Given the description of an element on the screen output the (x, y) to click on. 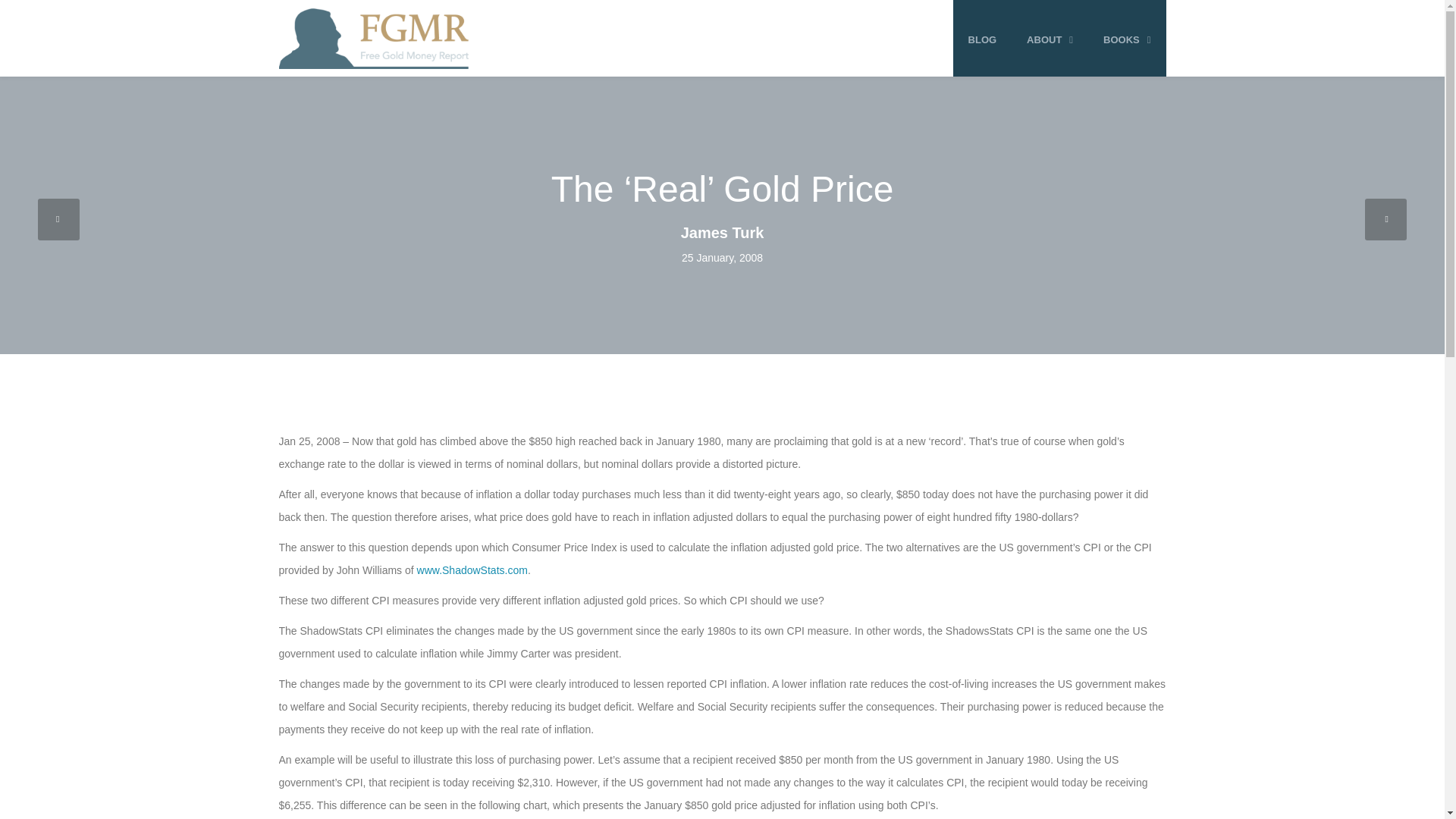
Posts by James Turk (721, 232)
www.ShadowStats.com (471, 570)
James Turk Blog (373, 38)
BLOG (982, 39)
ABOUT (1049, 39)
BOOKS (1126, 39)
James Turk (721, 232)
